Given the description of an element on the screen output the (x, y) to click on. 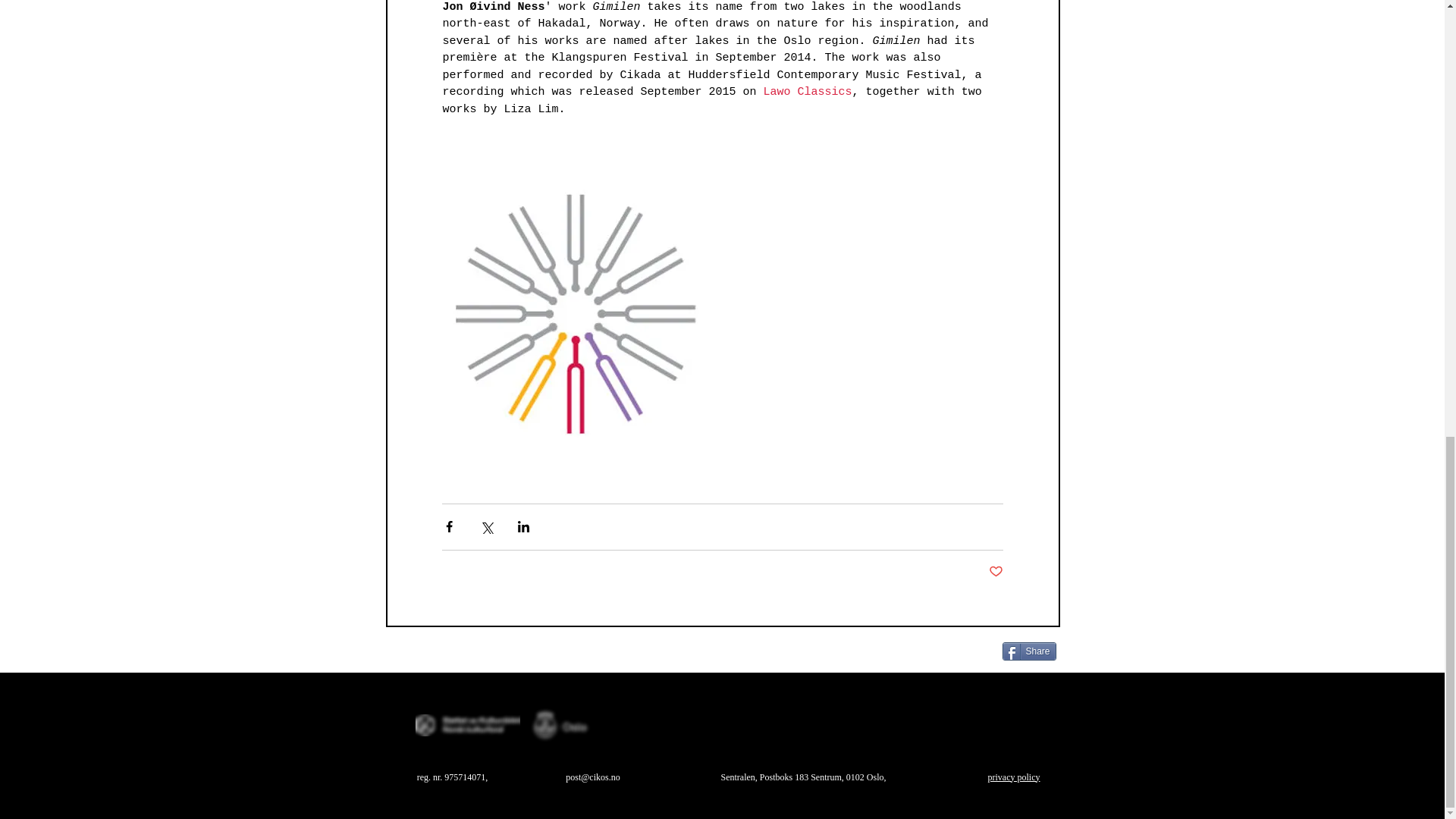
Share (1030, 650)
Post not marked as liked (995, 571)
Lawo Classics (806, 91)
privacy policy (1013, 777)
Facebook Like (825, 656)
Share (1030, 650)
